Given the description of an element on the screen output the (x, y) to click on. 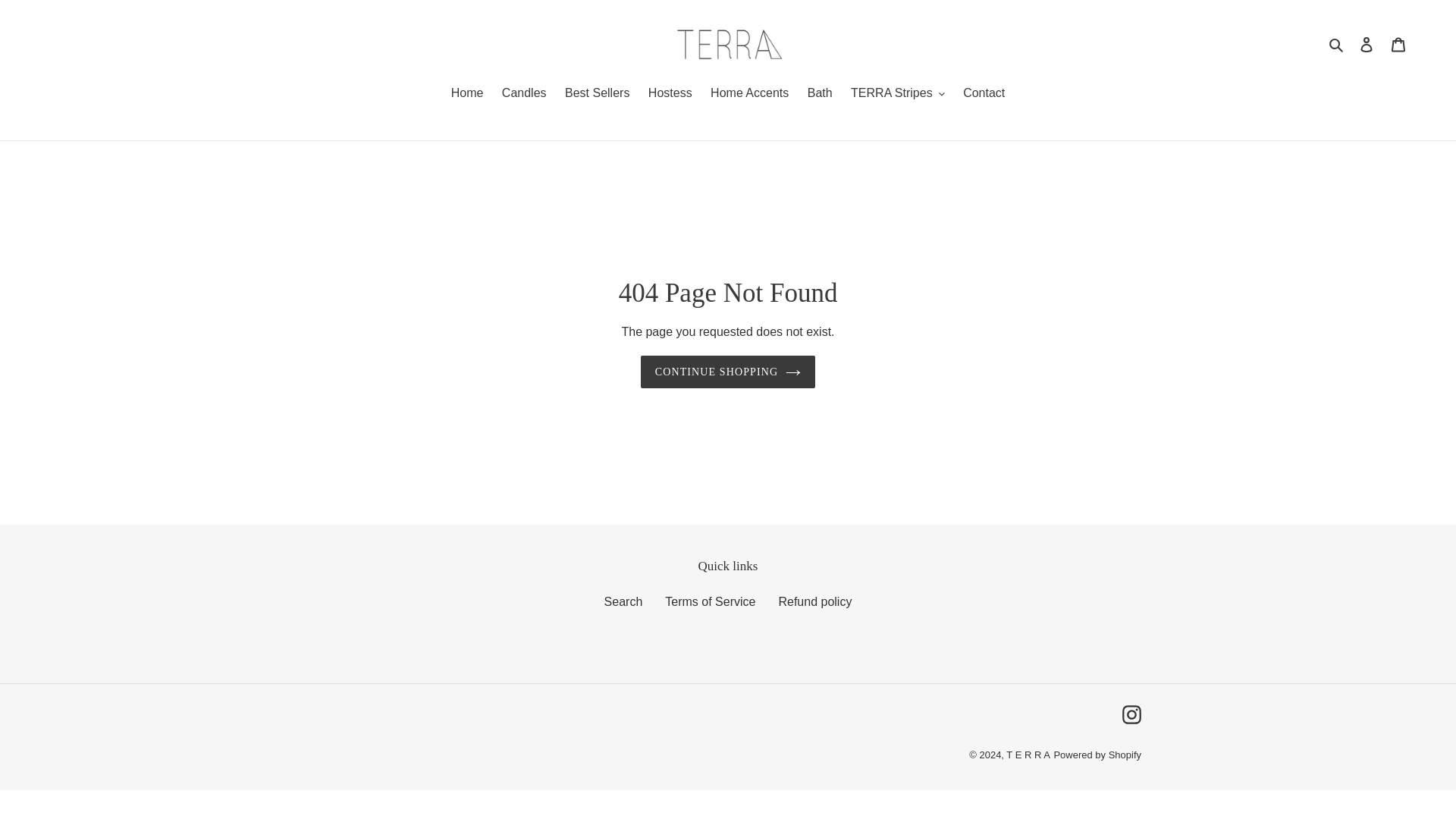
Refund policy (814, 601)
Terms of Service (710, 601)
Candles (524, 94)
Search (1337, 44)
Best Sellers (597, 94)
Powered by Shopify (1096, 754)
Home Accents (749, 94)
Hostess (670, 94)
T E R R A (1027, 754)
Home (468, 94)
